Given the description of an element on the screen output the (x, y) to click on. 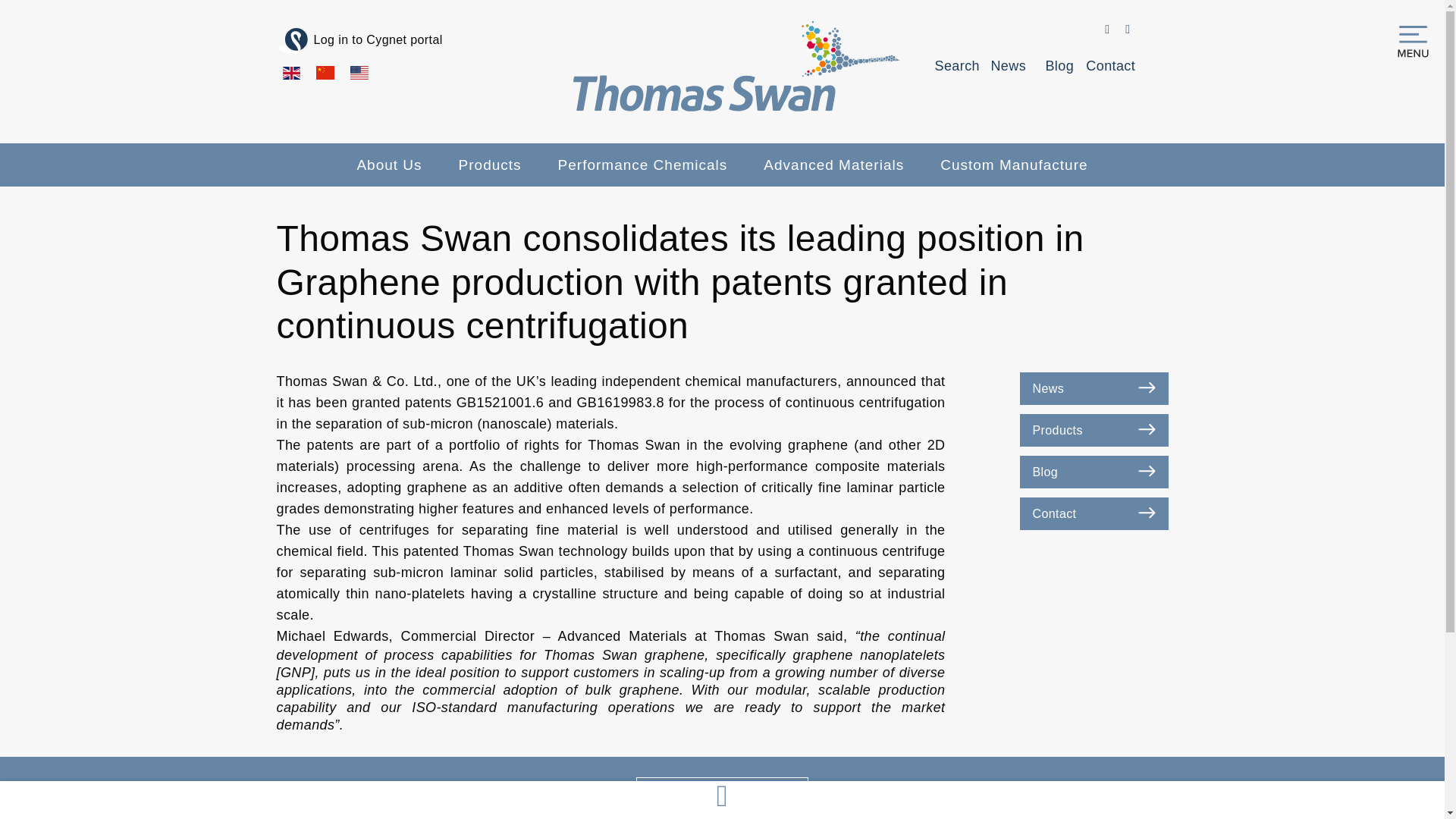
Custom Manufacture (1013, 164)
About Us (388, 164)
Contact (1110, 65)
Search (956, 65)
Advanced Materials (833, 164)
Performance Chemicals (642, 164)
Products (490, 164)
Log in to Cygnet portal (359, 41)
Blog (1059, 65)
News (1007, 65)
